Given the description of an element on the screen output the (x, y) to click on. 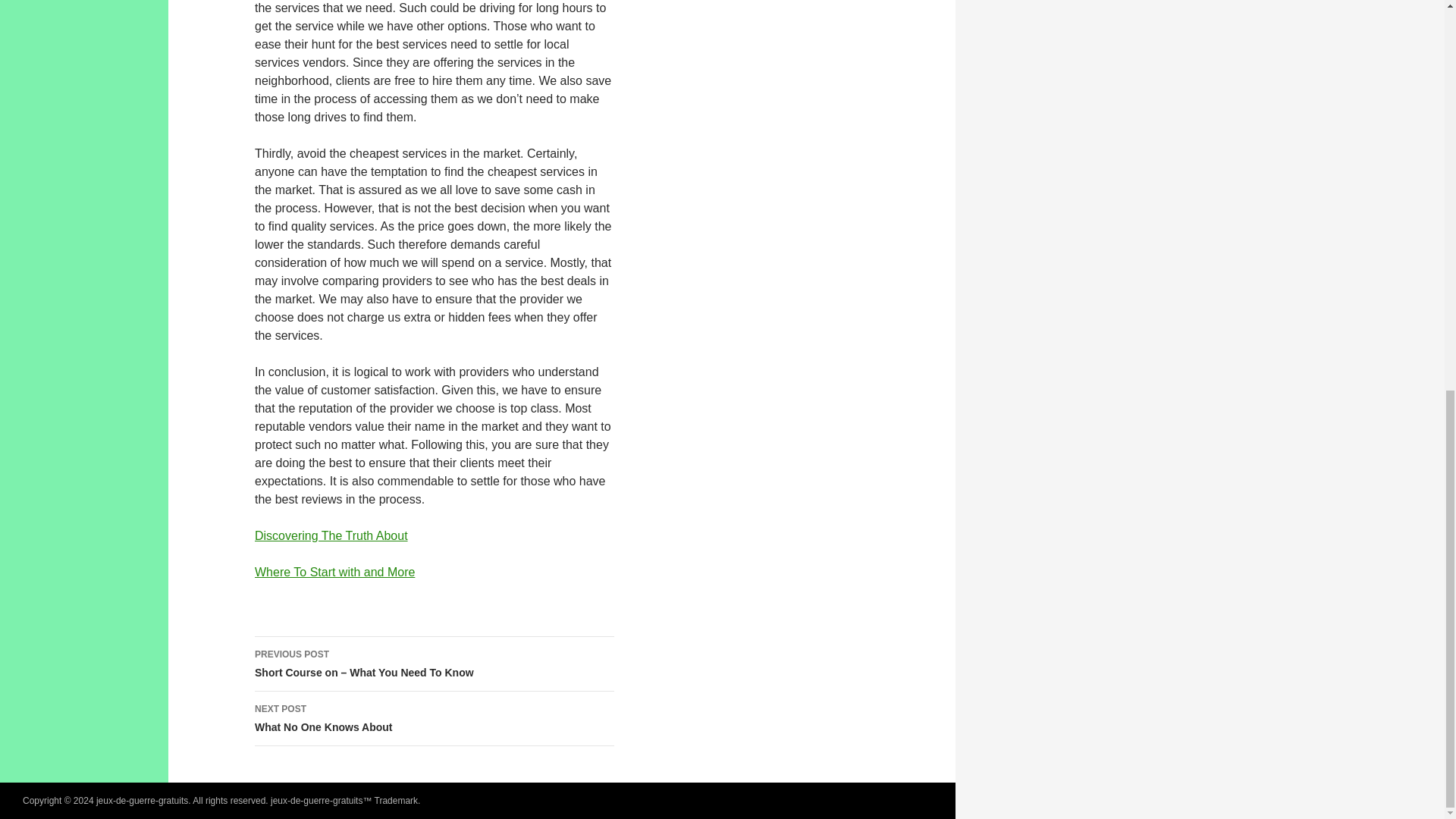
Where To Start with and More (434, 718)
Discovering The Truth About (334, 571)
